Given the description of an element on the screen output the (x, y) to click on. 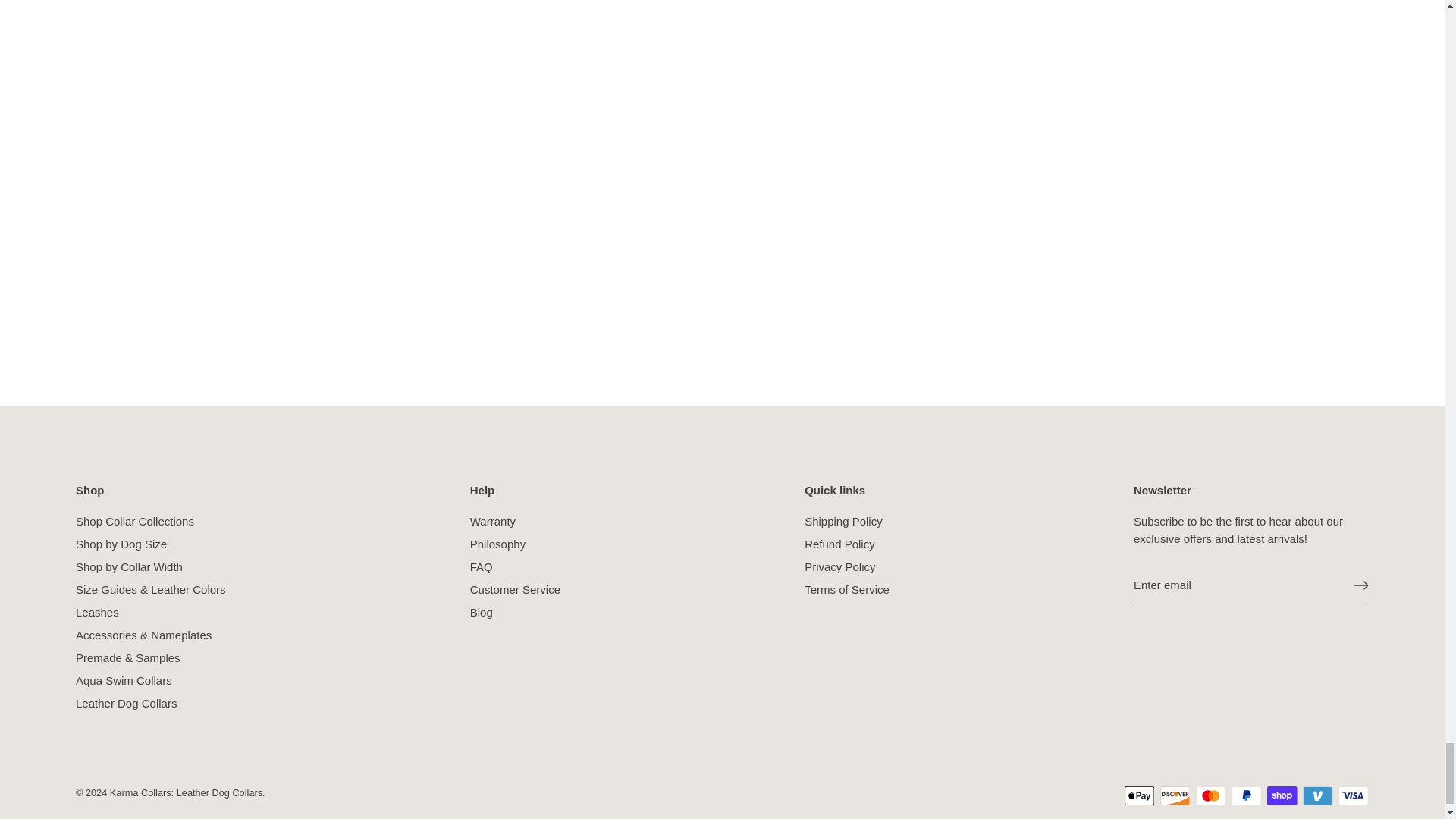
Right arrow long (1361, 585)
Apple Pay (1139, 795)
Visa (1353, 795)
PayPal (1245, 795)
Shop Pay (1281, 795)
Mastercard (1210, 795)
Venmo (1317, 795)
Discover (1174, 795)
